Given the description of an element on the screen output the (x, y) to click on. 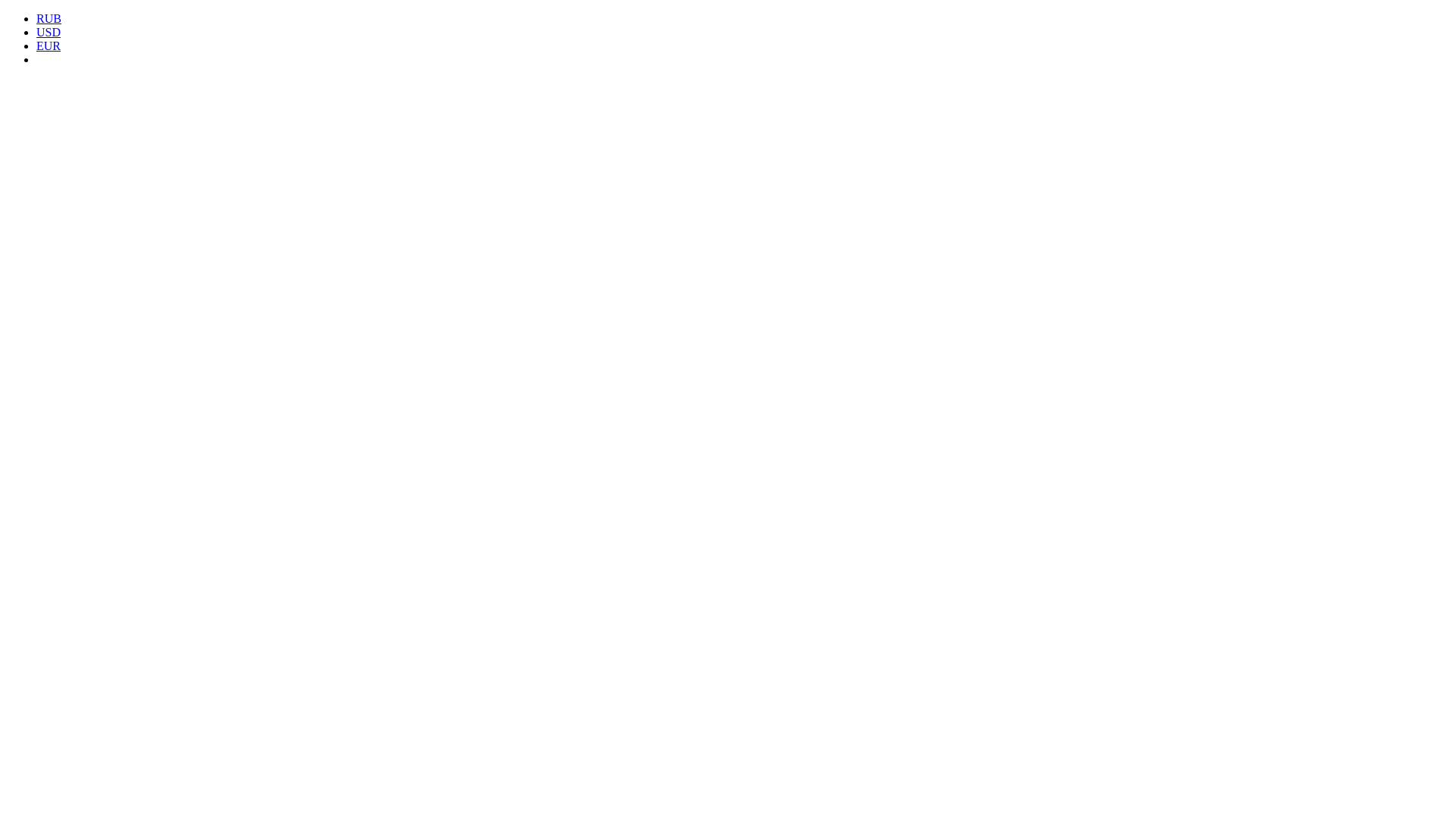
USD Element type: text (48, 31)
EUR Element type: text (48, 45)
RUB Element type: text (48, 18)
